Given the description of an element on the screen output the (x, y) to click on. 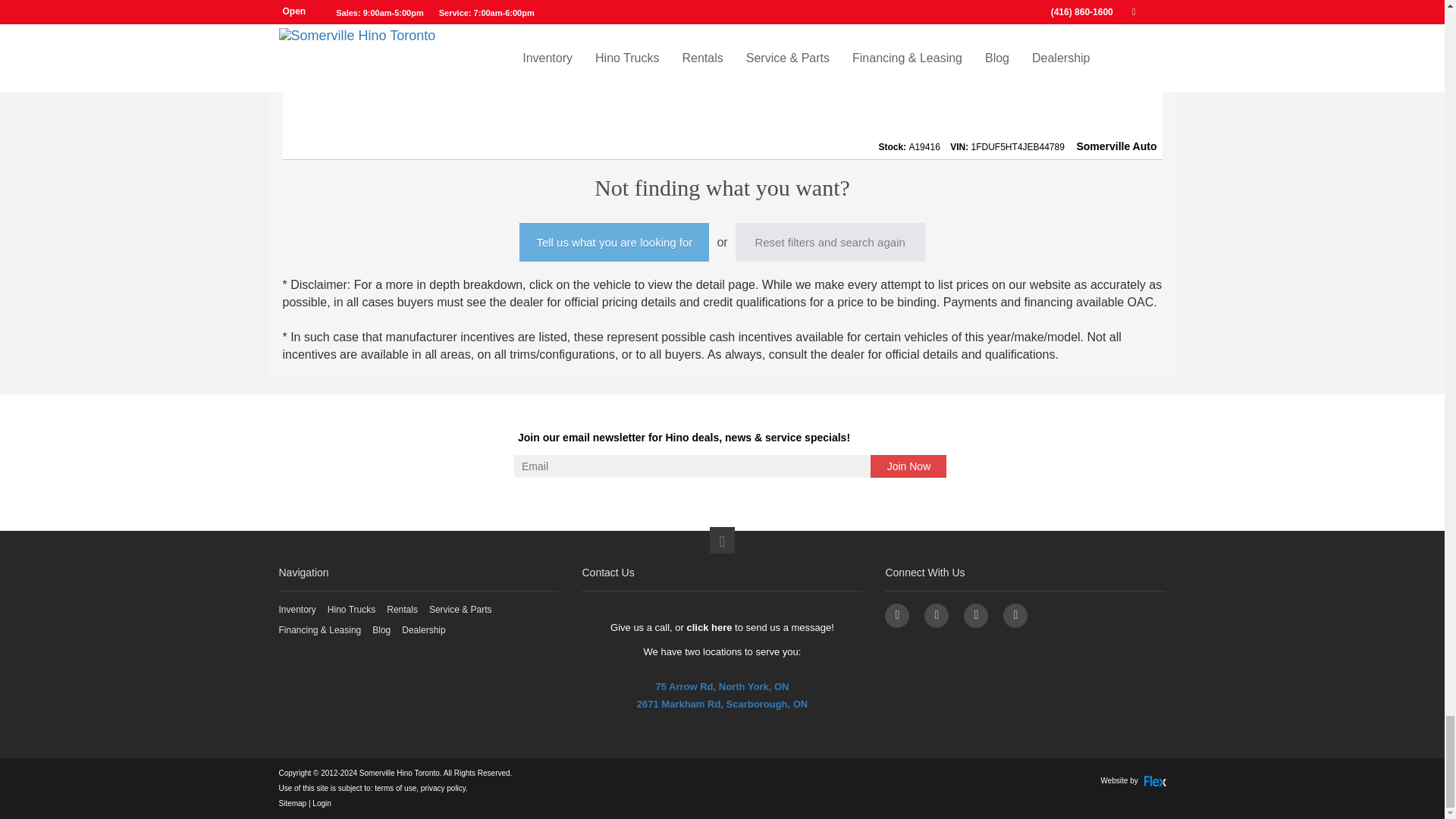
YouTube (936, 615)
Instagram (975, 615)
Click to see what Flex can do for you (1133, 780)
Linked In (1015, 615)
Facebook (896, 615)
